Given the description of an element on the screen output the (x, y) to click on. 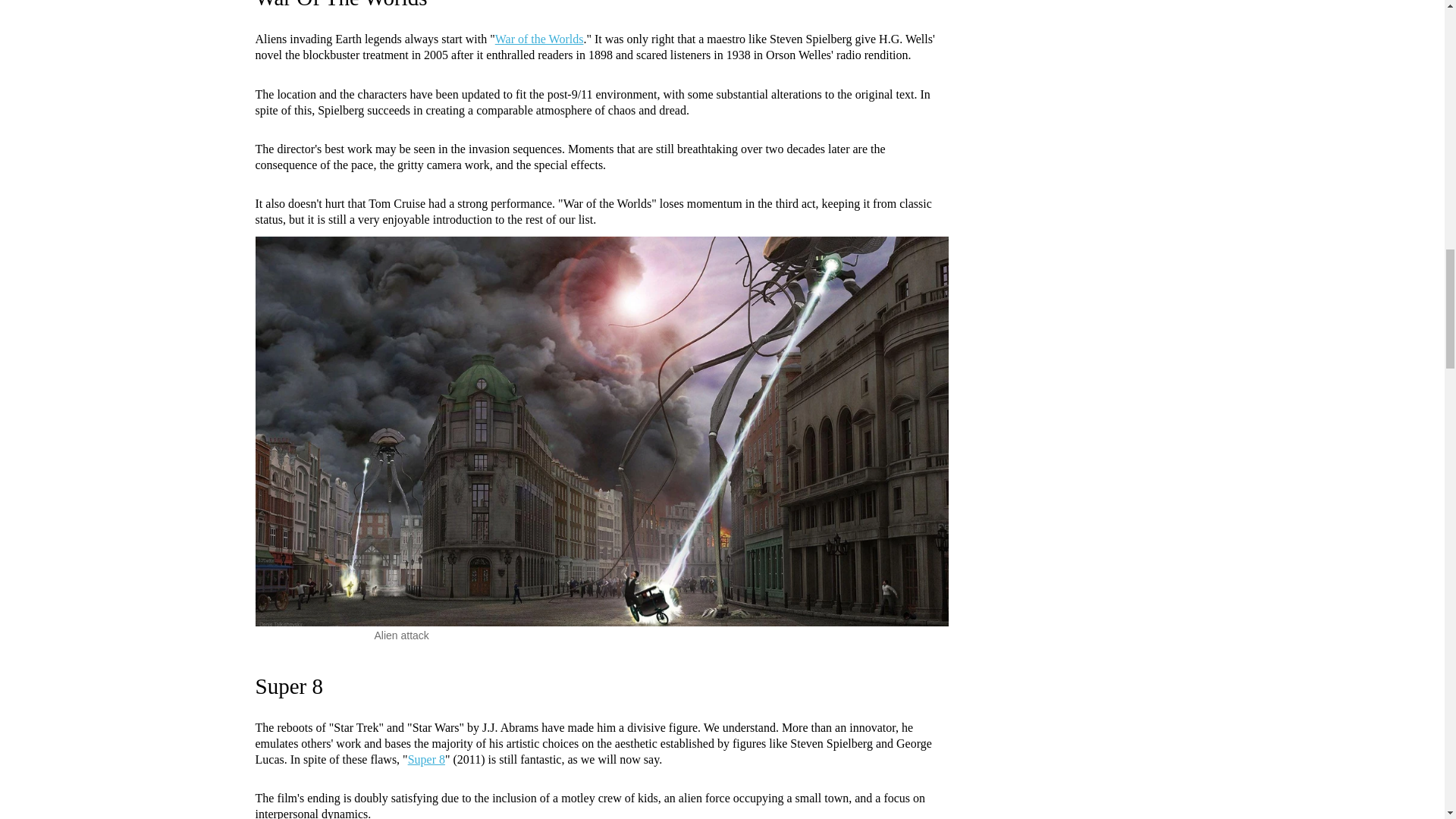
War Of The Worlds (340, 4)
Super 8 (287, 686)
Super 8 (426, 758)
War of the Worlds (539, 38)
Super 8 (287, 686)
War Of The Worlds (340, 4)
